Given the description of an element on the screen output the (x, y) to click on. 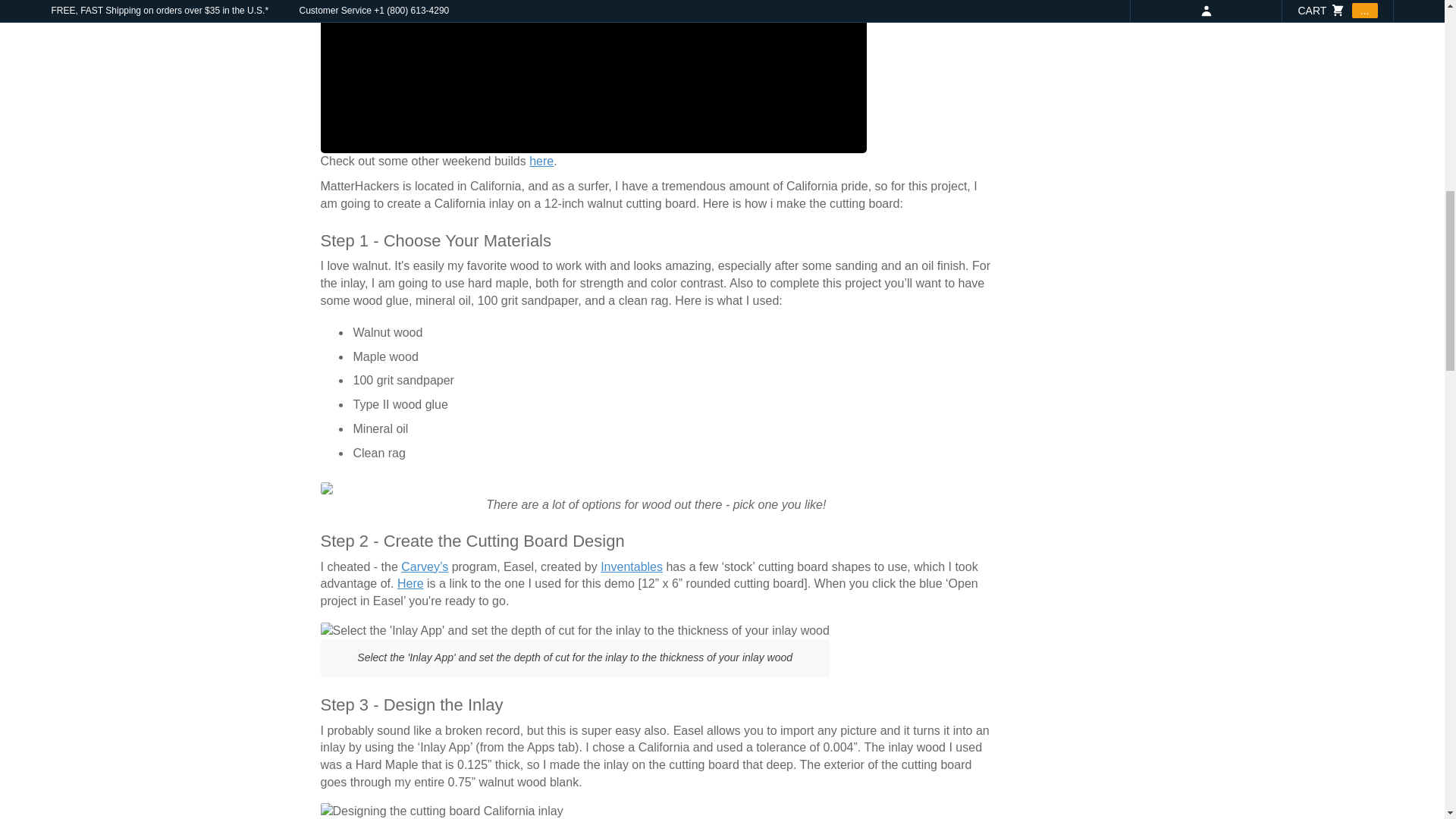
Designing the cutting board California inlay (441, 811)
